Given the description of an element on the screen output the (x, y) to click on. 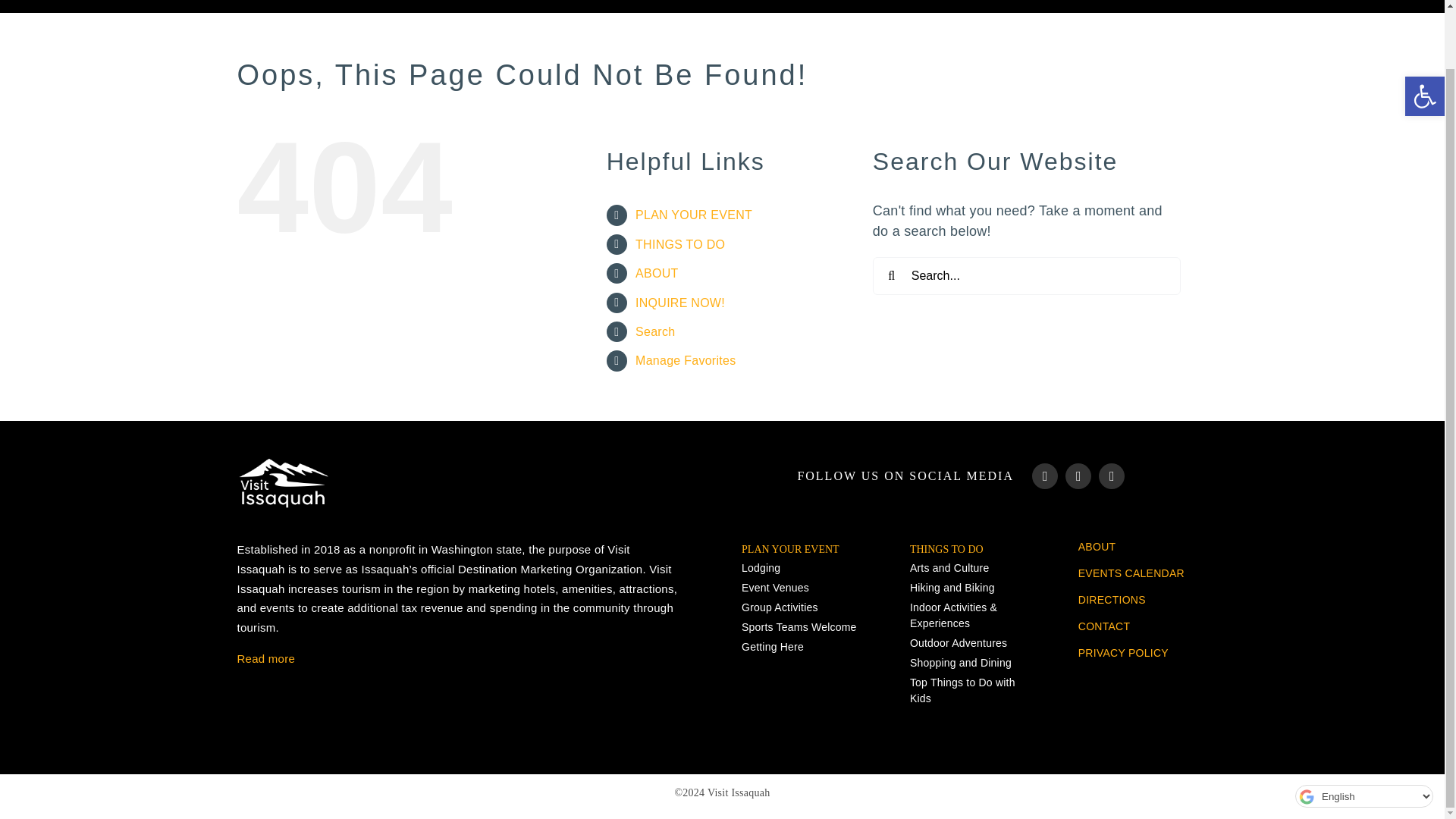
LinkedIn (1111, 475)
Instagram (1077, 475)
Facebook (1045, 475)
Accessibility Tools (1424, 32)
Manage Favorites (684, 359)
